Given the description of an element on the screen output the (x, y) to click on. 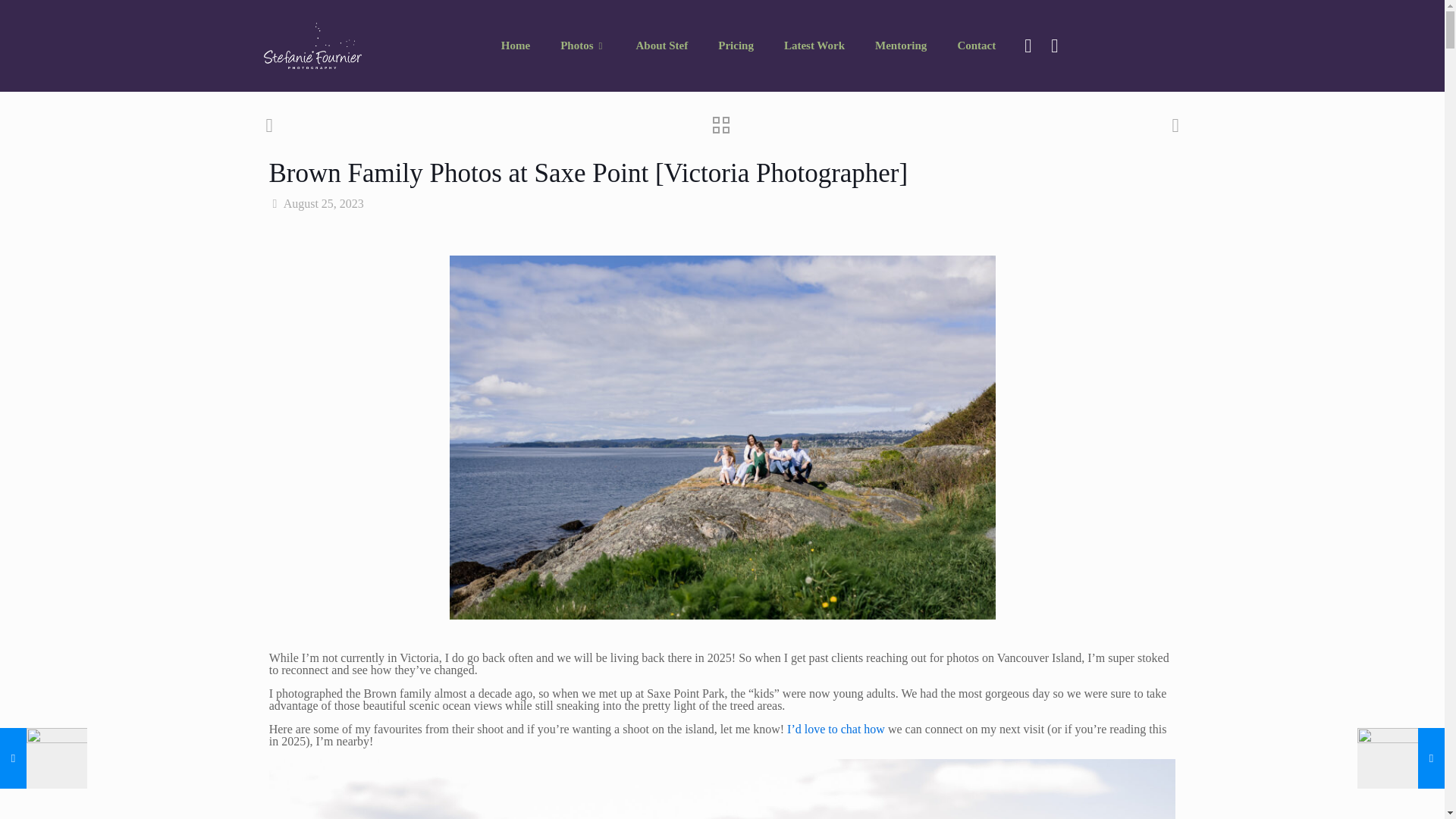
Mentoring (901, 45)
Home (515, 45)
Photos (582, 45)
Pricing (735, 45)
Instagram (1054, 45)
Contact (976, 45)
About Stef (661, 45)
Latest Work (814, 45)
Facebook (1026, 45)
